Given the description of an element on the screen output the (x, y) to click on. 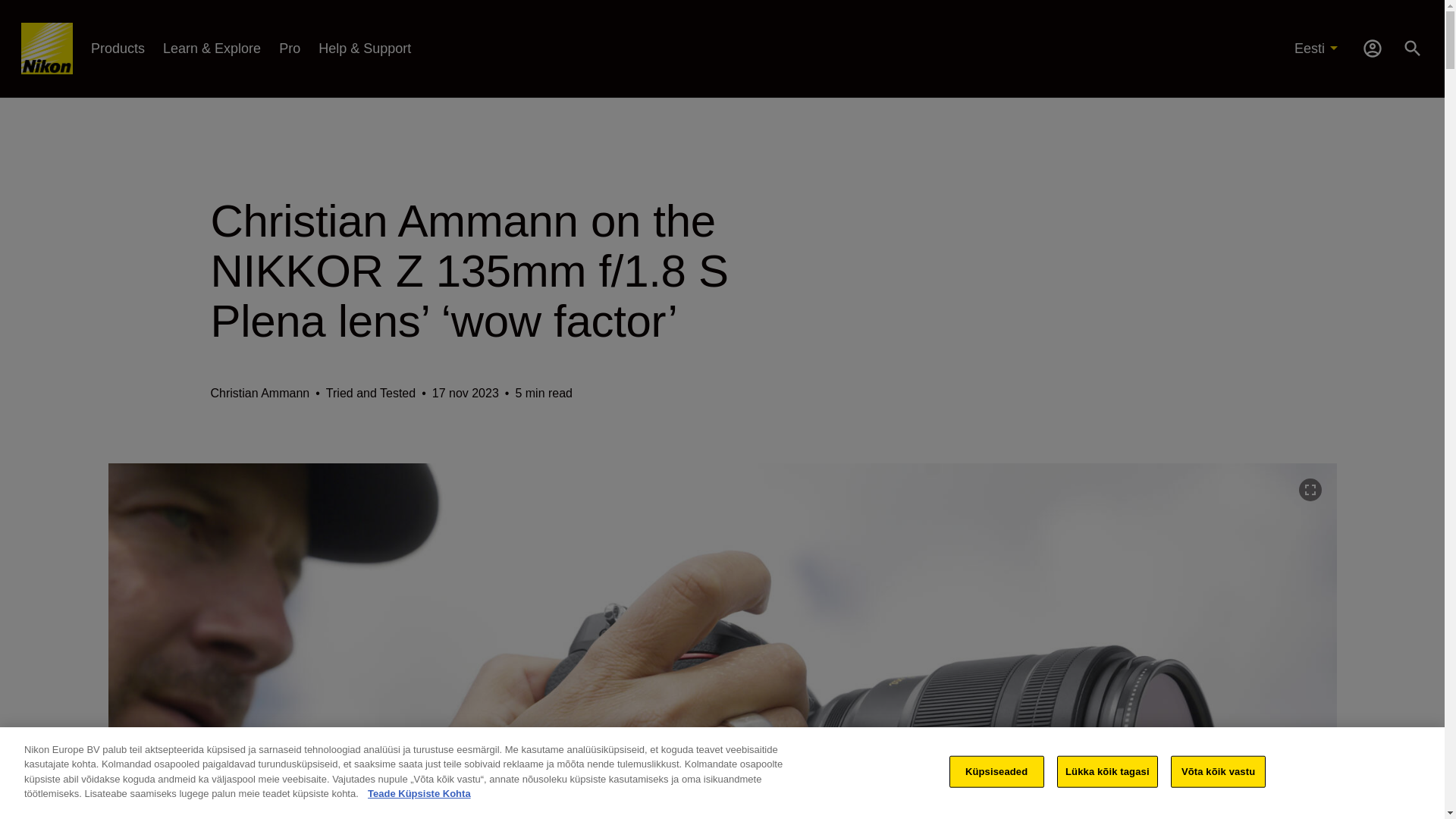
Account (1372, 47)
